Given the description of an element on the screen output the (x, y) to click on. 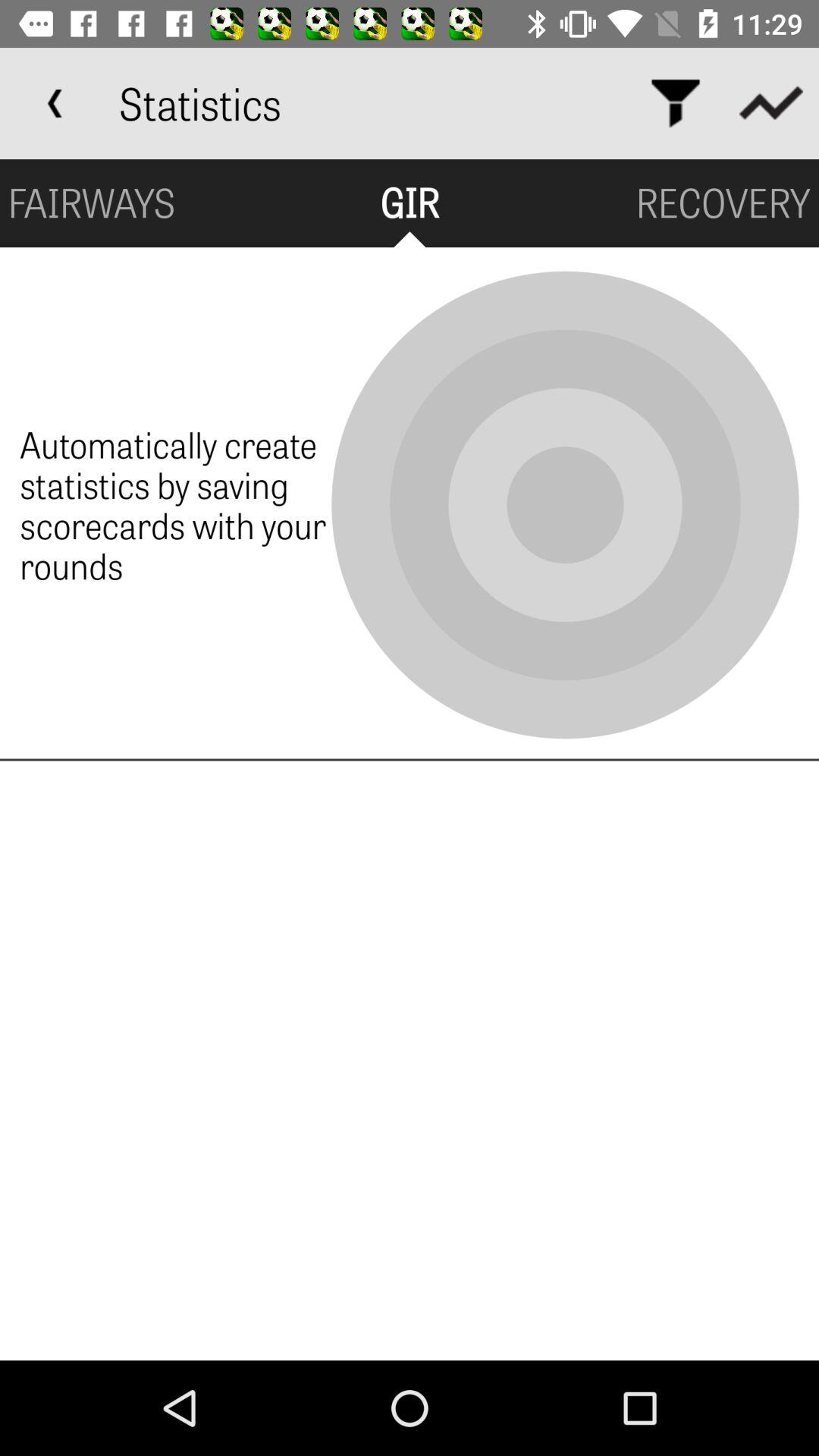
tap app next to the statistics icon (675, 103)
